Given the description of an element on the screen output the (x, y) to click on. 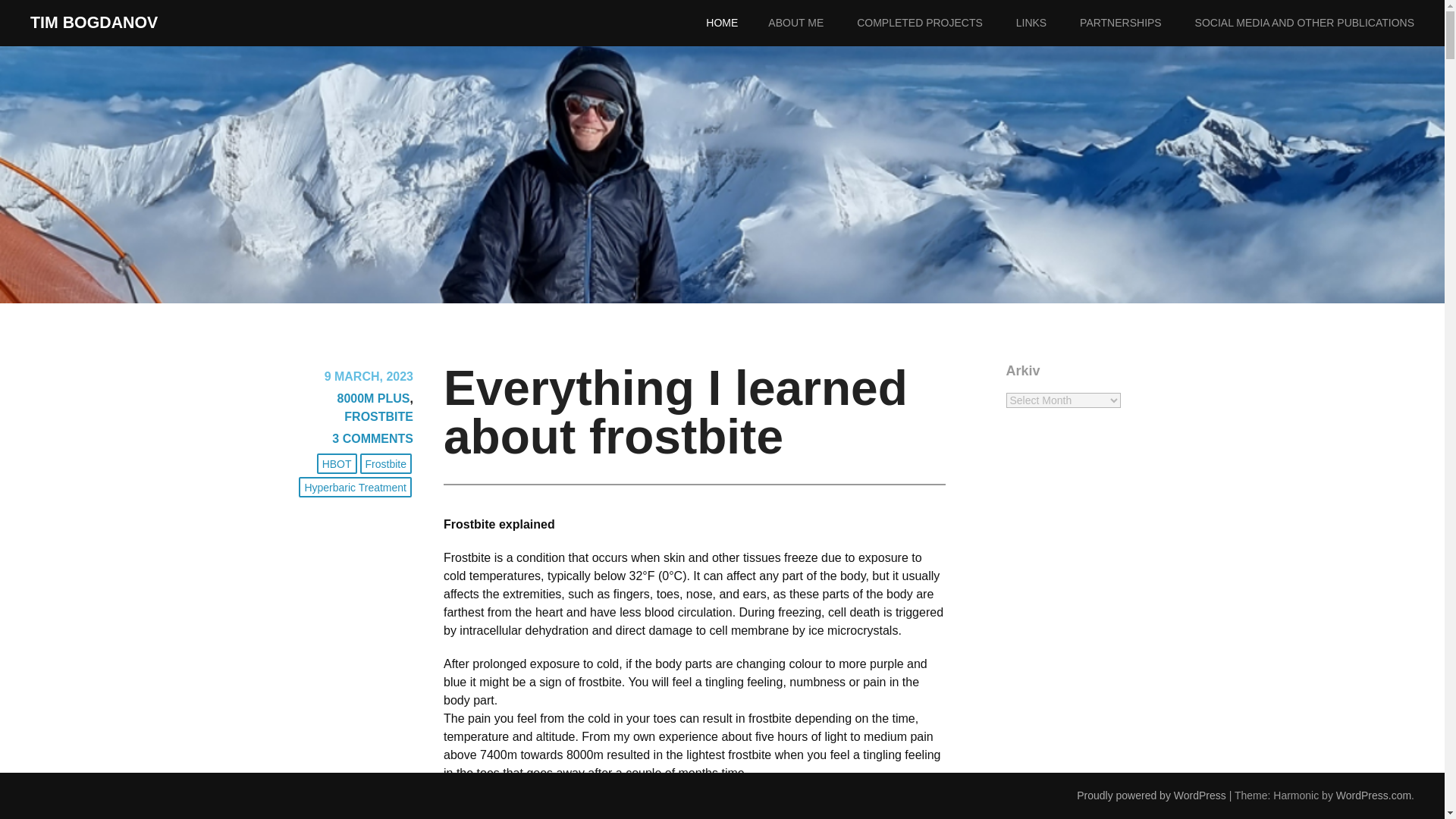
9 MARCH, 2023 (368, 376)
Hyperbaric Treatment (355, 486)
3 COMMENTS (372, 438)
Frostbite (385, 463)
HOME (737, 22)
HBOT (336, 463)
TIM BOGDANOV (93, 22)
LINKS (1046, 22)
PARTNERSHIPS (1136, 22)
COMPLETED PROJECTS (935, 22)
FROSTBITE (378, 416)
ABOUT ME (810, 22)
8000M PLUS (372, 398)
Everything I learned about frostbite (675, 412)
